Given the description of an element on the screen output the (x, y) to click on. 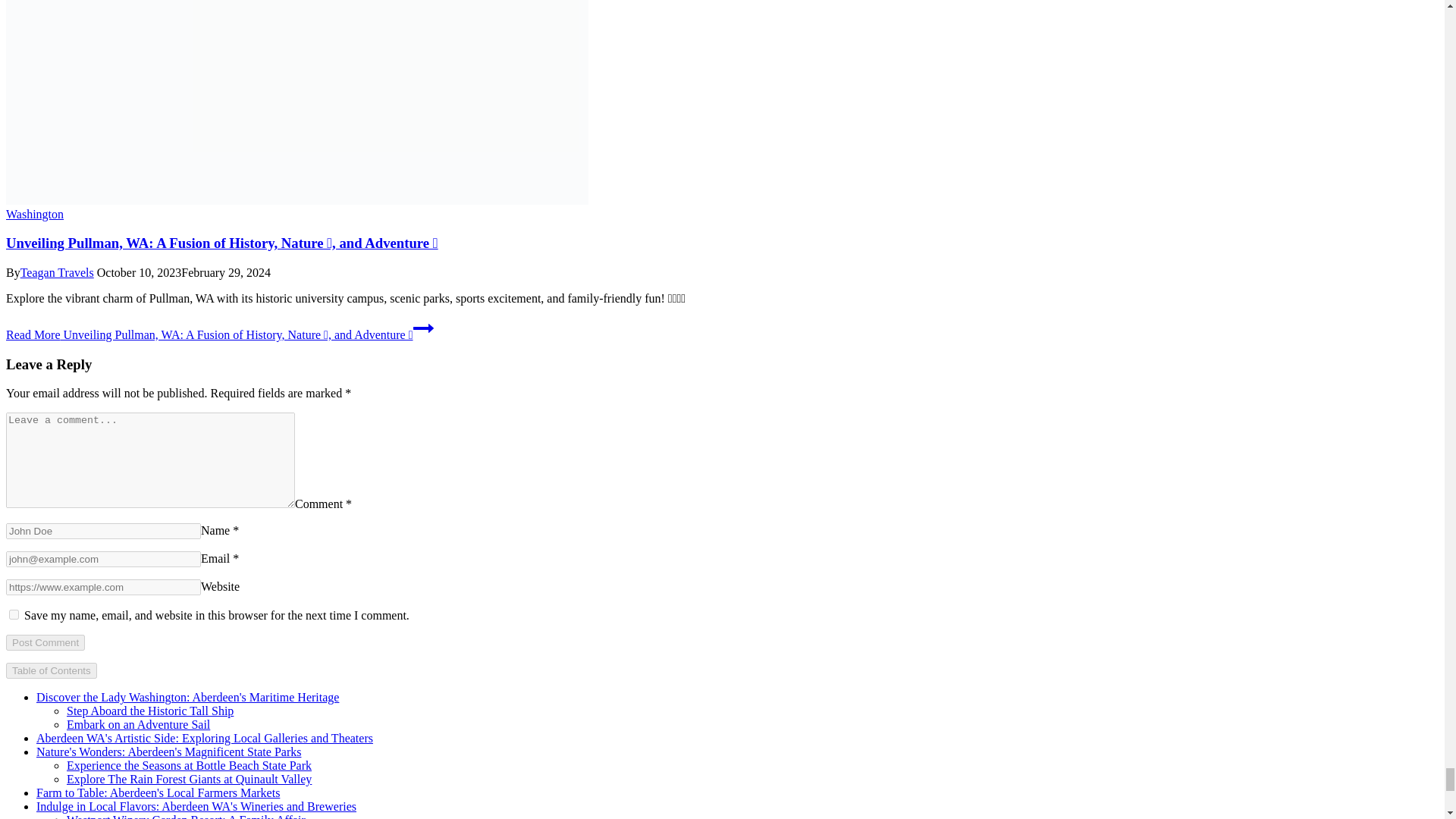
Post Comment (44, 642)
yes (13, 614)
Continue (423, 328)
